Given the description of an element on the screen output the (x, y) to click on. 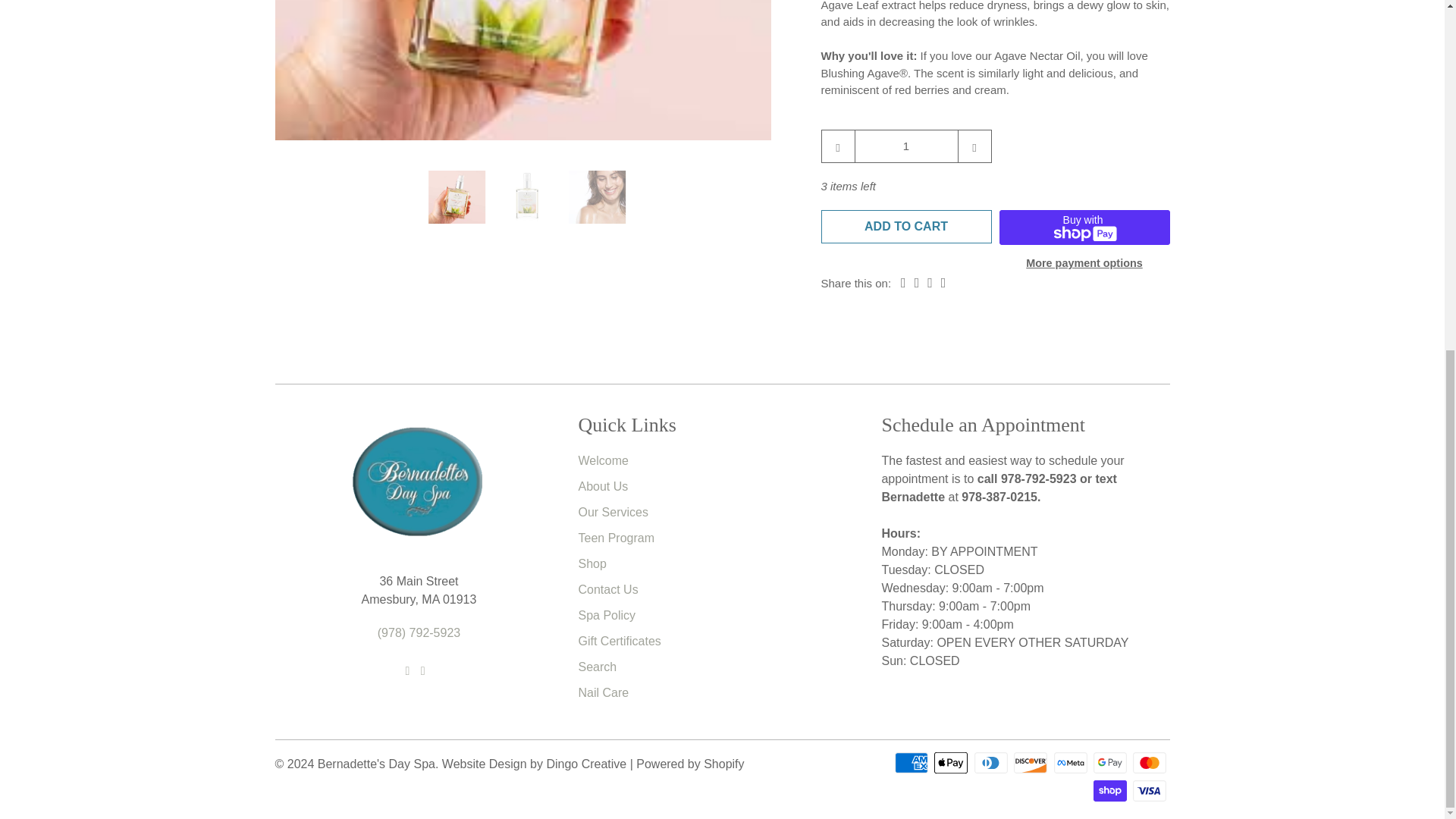
Mastercard (1150, 762)
Meta Pay (1072, 762)
Shop Pay (1111, 790)
Discover (1031, 762)
FarmHouse Fresh Blushing Agave Body Oil (523, 70)
Google Pay (1111, 762)
American Express (913, 762)
1 (905, 145)
Diners Club (992, 762)
Visa (1150, 790)
Apple Pay (952, 762)
